Given the description of an element on the screen output the (x, y) to click on. 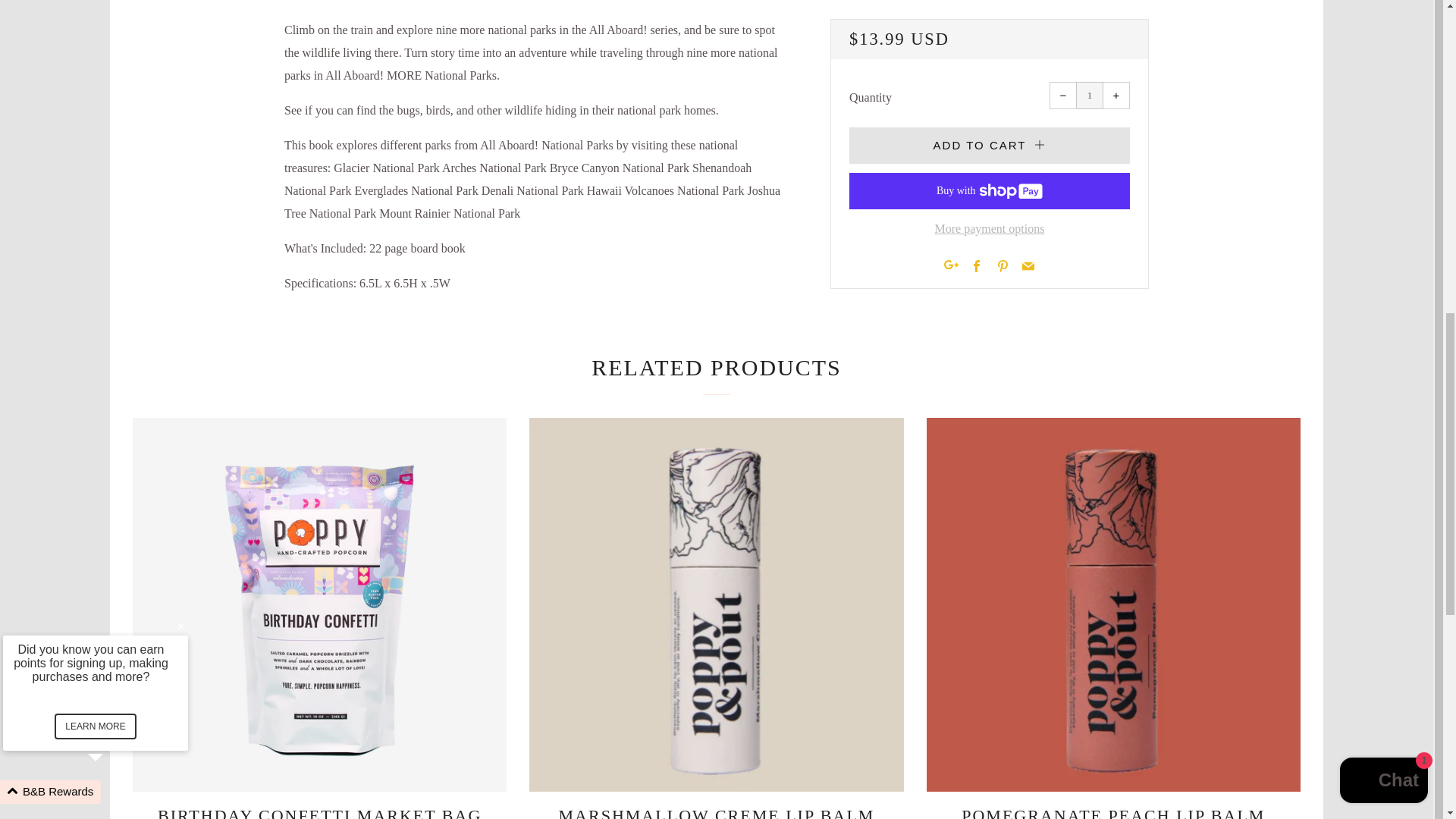
Birthday Confetti Market Bag (319, 809)
Marshmallow Creme Lip Balm (715, 809)
Pomegranate Peach Lip Balm (1113, 809)
1 (1089, 94)
